Given the description of an element on the screen output the (x, y) to click on. 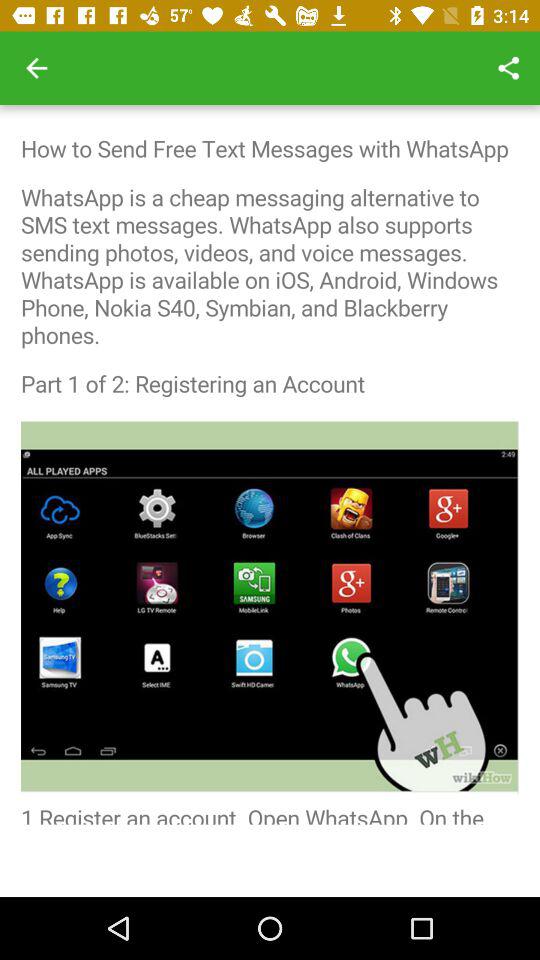
send a message (270, 464)
